Given the description of an element on the screen output the (x, y) to click on. 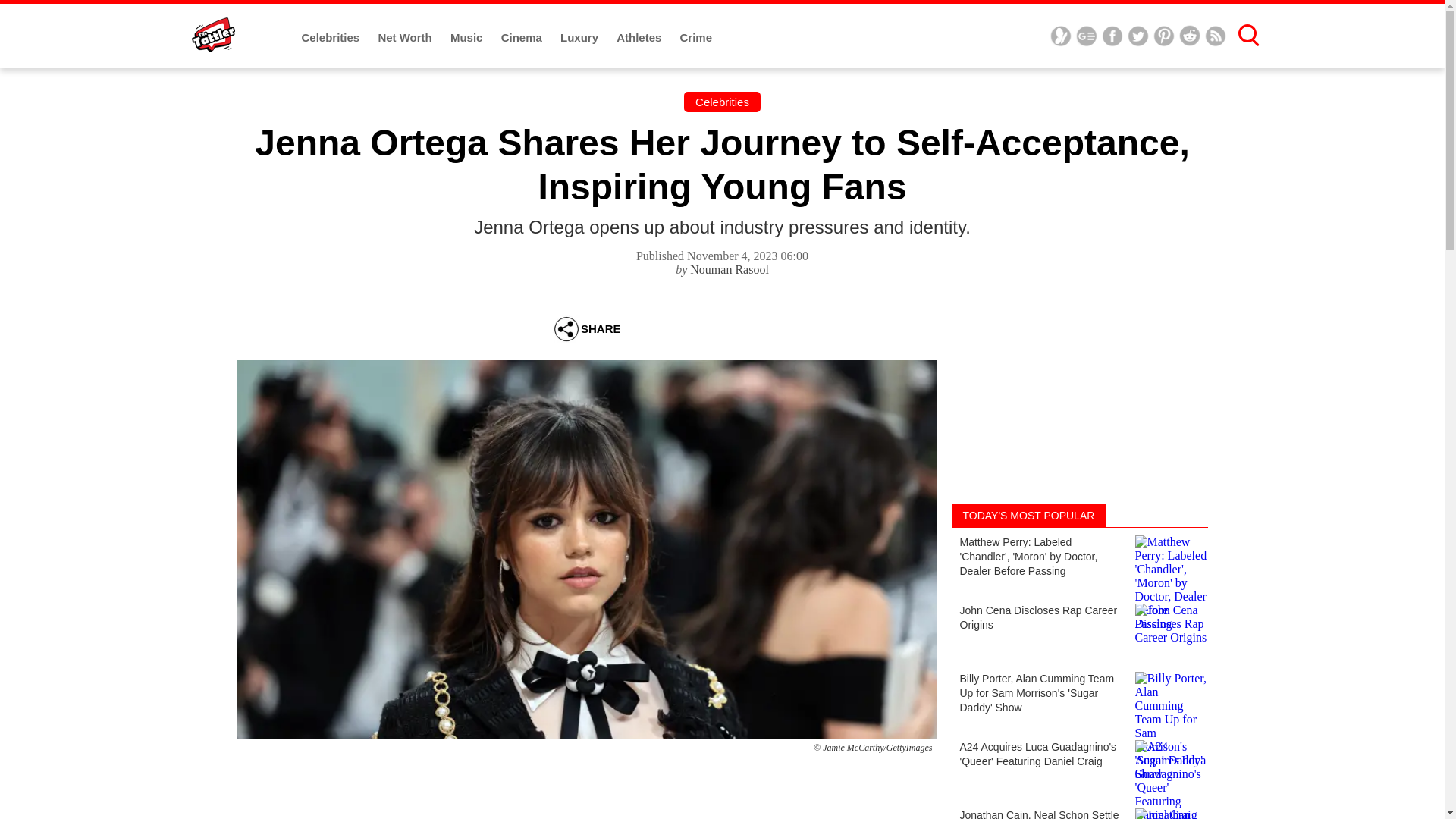
Luxury (580, 37)
Crime (696, 37)
Cinema (522, 37)
Music (467, 37)
Nouman Rasool (729, 269)
Celebrities (722, 101)
Net Worth (406, 37)
Athletes (639, 37)
